Given the description of an element on the screen output the (x, y) to click on. 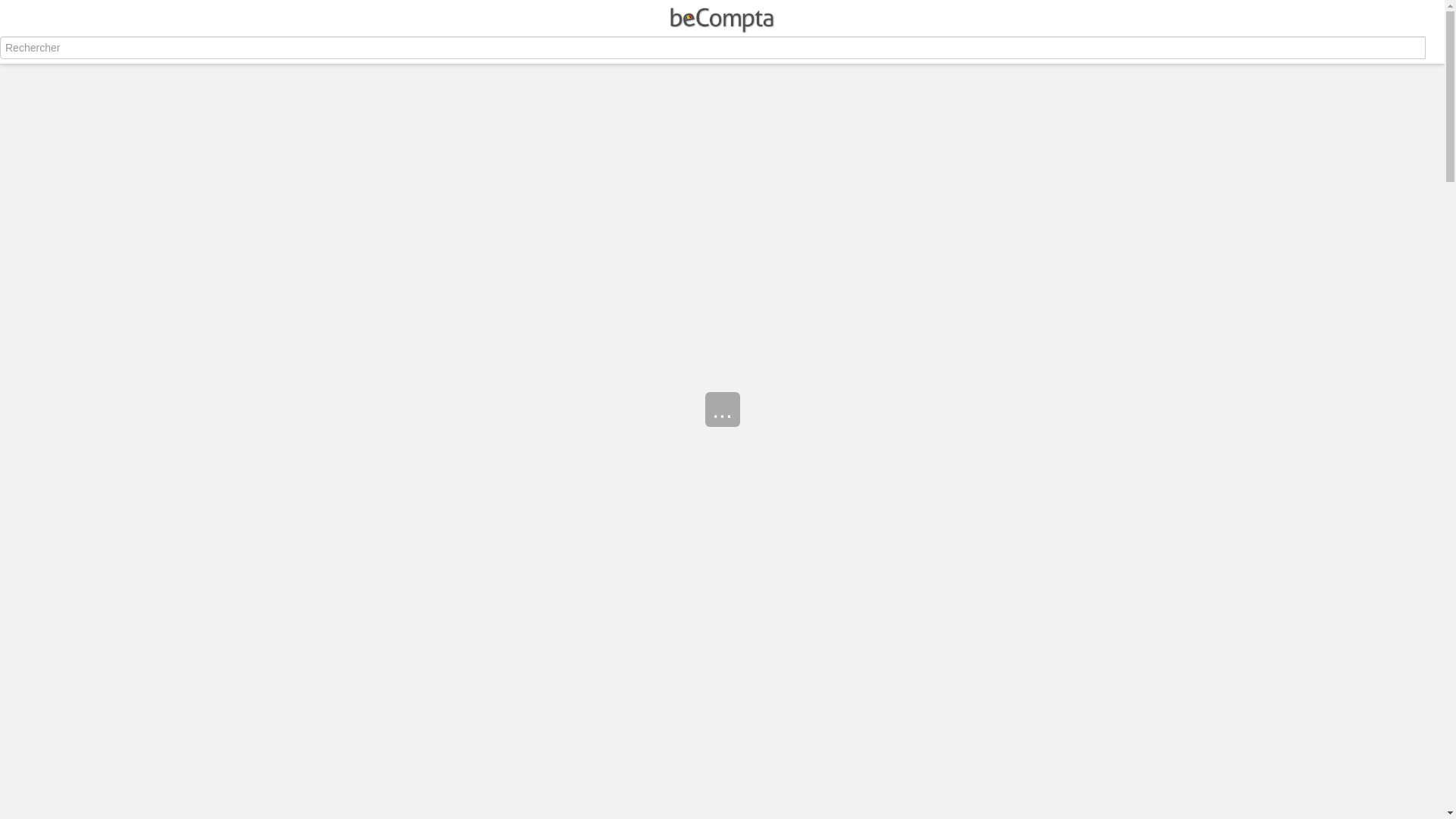
S'inscrire gratuitement Element type: text (753, 51)
Accueil Element type: hover (722, 15)
Rechercher Element type: text (0, 59)
Se connecter Element type: text (670, 51)
Aller au contenu principal Element type: text (0, 71)
